Given the description of an element on the screen output the (x, y) to click on. 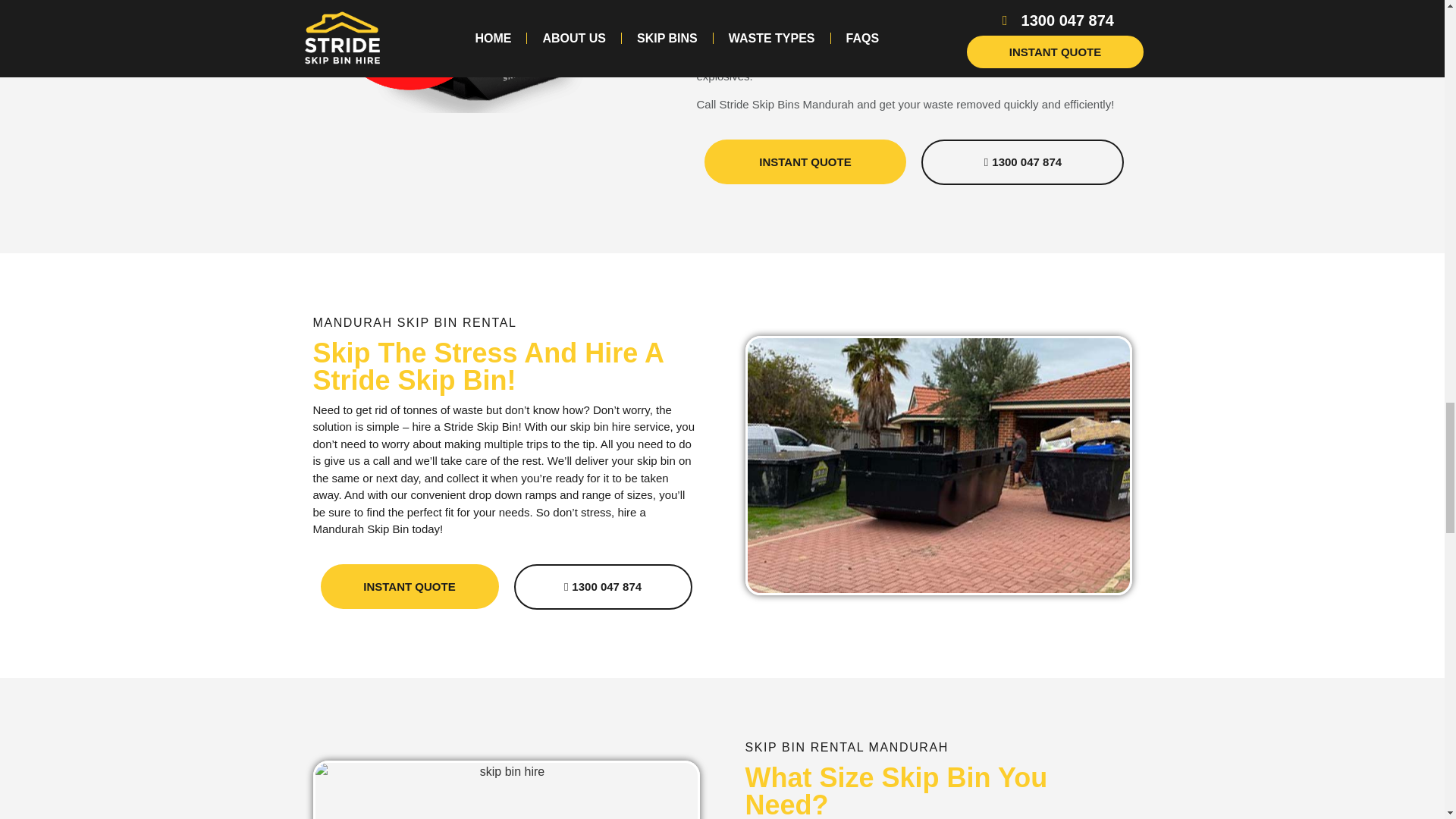
INSTANT QUOTE (408, 586)
INSTANT QUOTE (804, 161)
1300 047 874 (1022, 162)
1300 047 874 (603, 586)
